Given the description of an element on the screen output the (x, y) to click on. 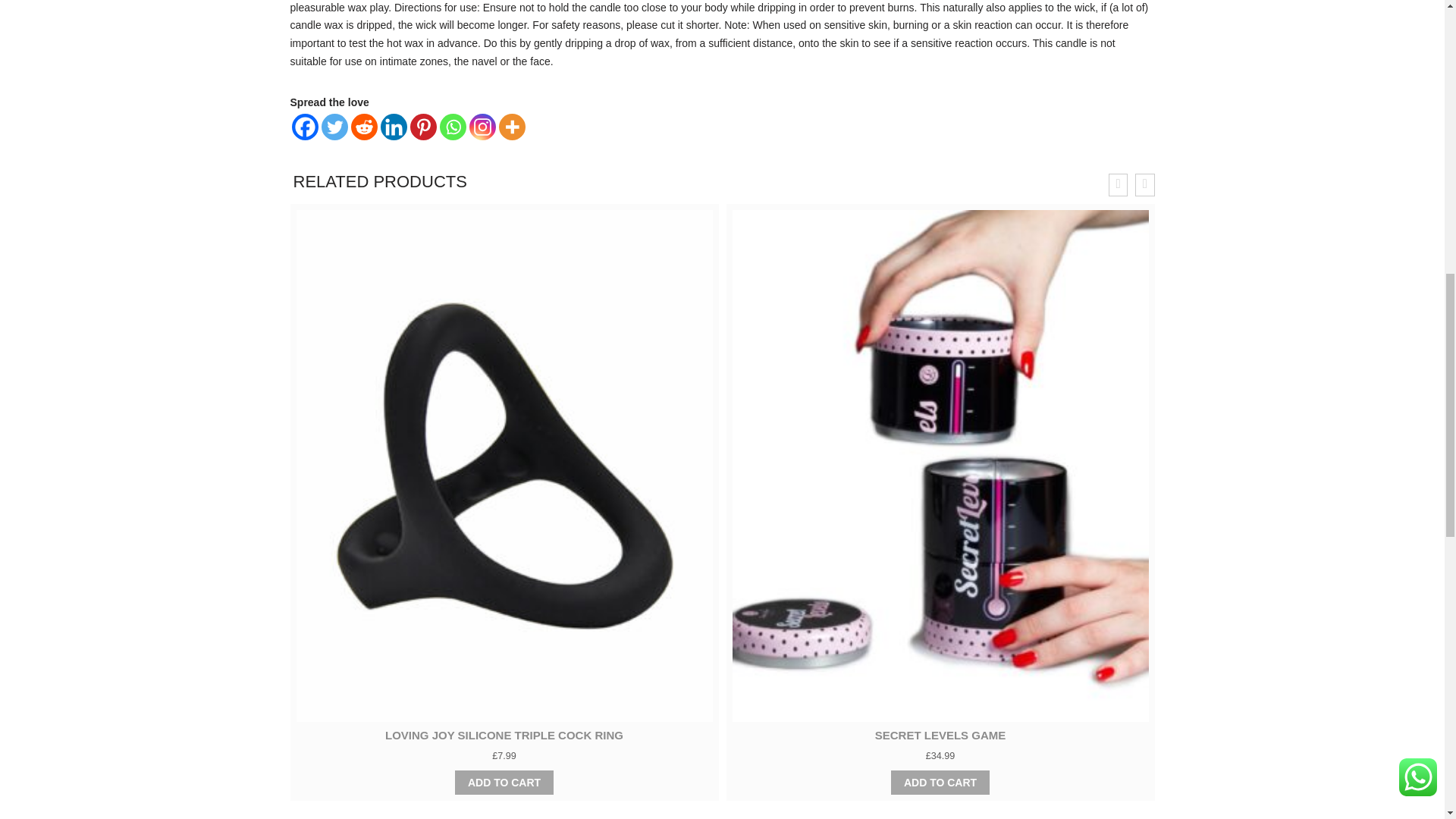
Pinterest (422, 126)
Facebook (304, 126)
Instagram (481, 126)
Twitter (334, 126)
Reddit (363, 126)
Whatsapp (452, 126)
Linkedin (393, 126)
